Given the description of an element on the screen output the (x, y) to click on. 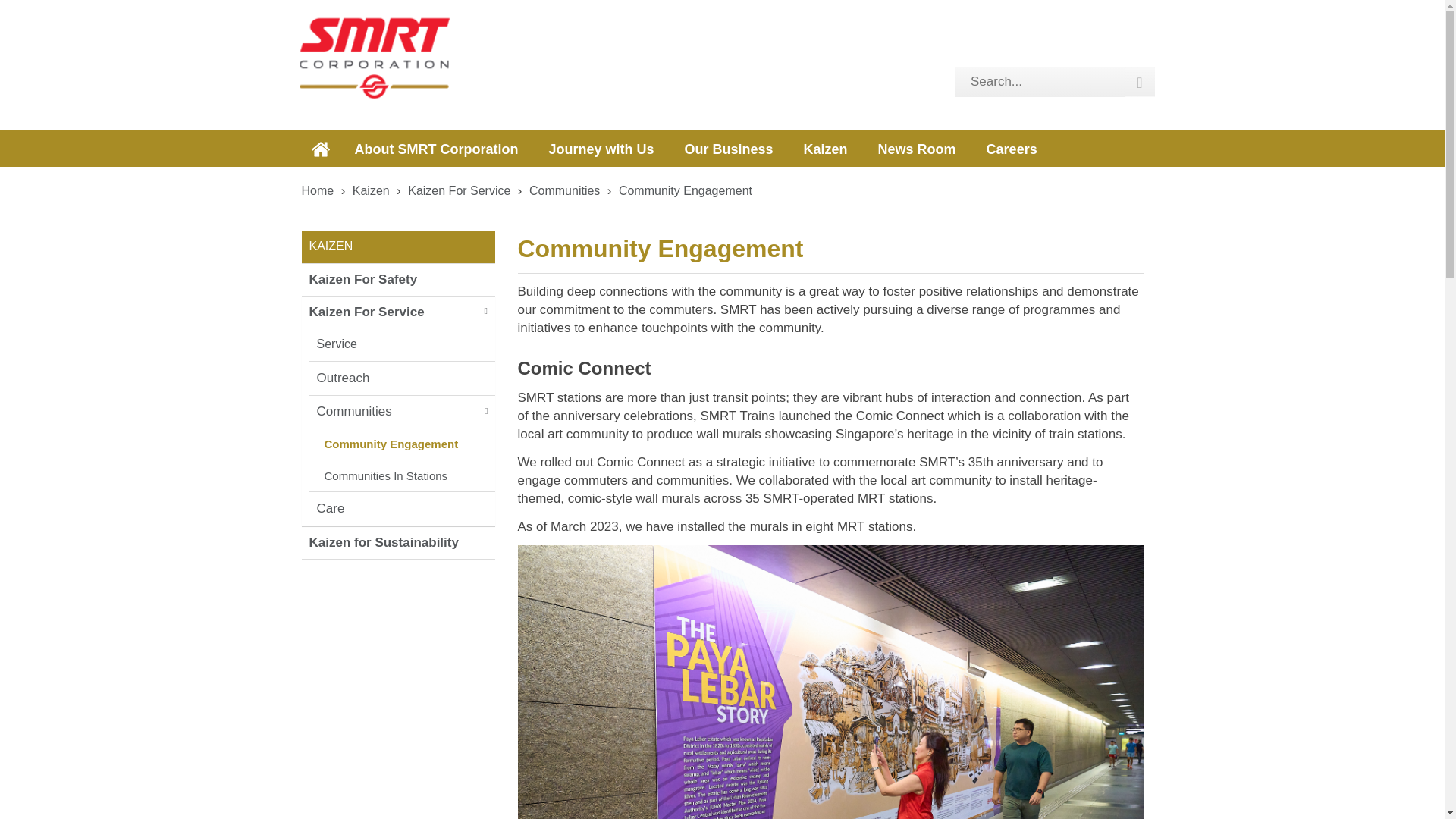
Journey with Us (600, 148)
Our Business (727, 148)
Click to view search results (1139, 81)
SMRT (373, 56)
Home (320, 148)
About SMRT Corporation (436, 148)
